Given the description of an element on the screen output the (x, y) to click on. 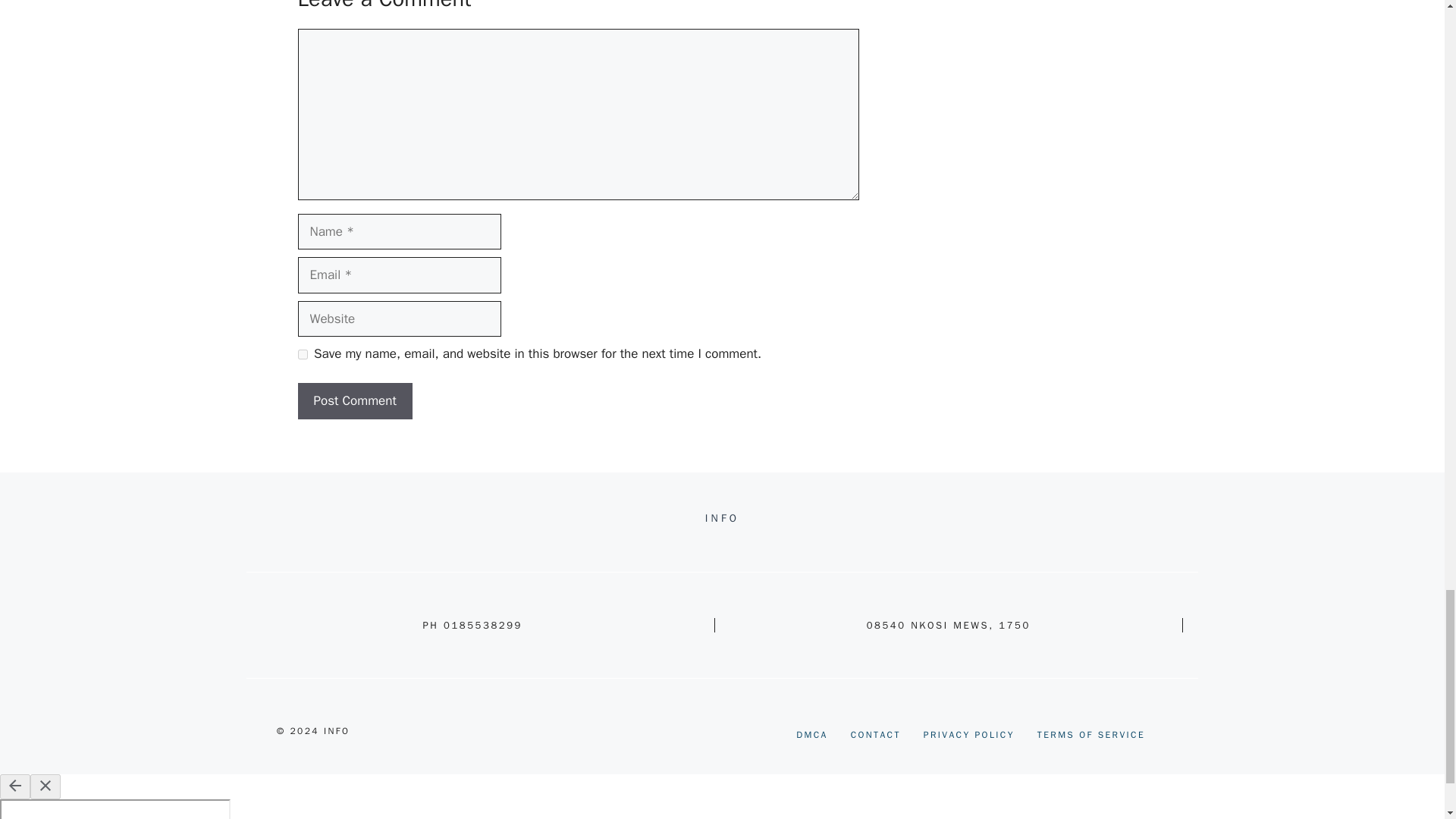
Post Comment (354, 401)
yes (302, 354)
Post Comment (354, 401)
